Given the description of an element on the screen output the (x, y) to click on. 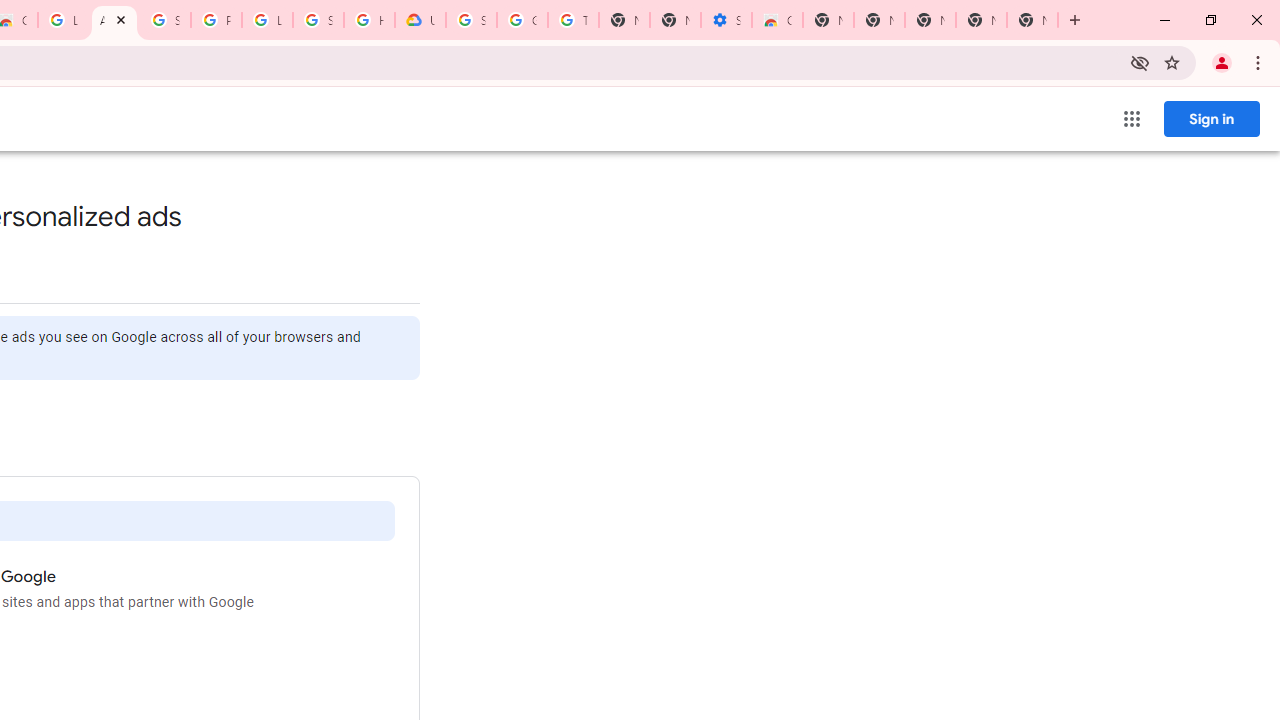
New Tab (1032, 20)
Sign in - Google Accounts (164, 20)
Ad Settings (113, 20)
Settings - Accessibility (726, 20)
Sign in - Google Accounts (470, 20)
Third-party cookies blocked (1139, 62)
Google Account Help (521, 20)
Chrome Web Store - Accessibility extensions (776, 20)
Sign in - Google Accounts (318, 20)
